Given the description of an element on the screen output the (x, y) to click on. 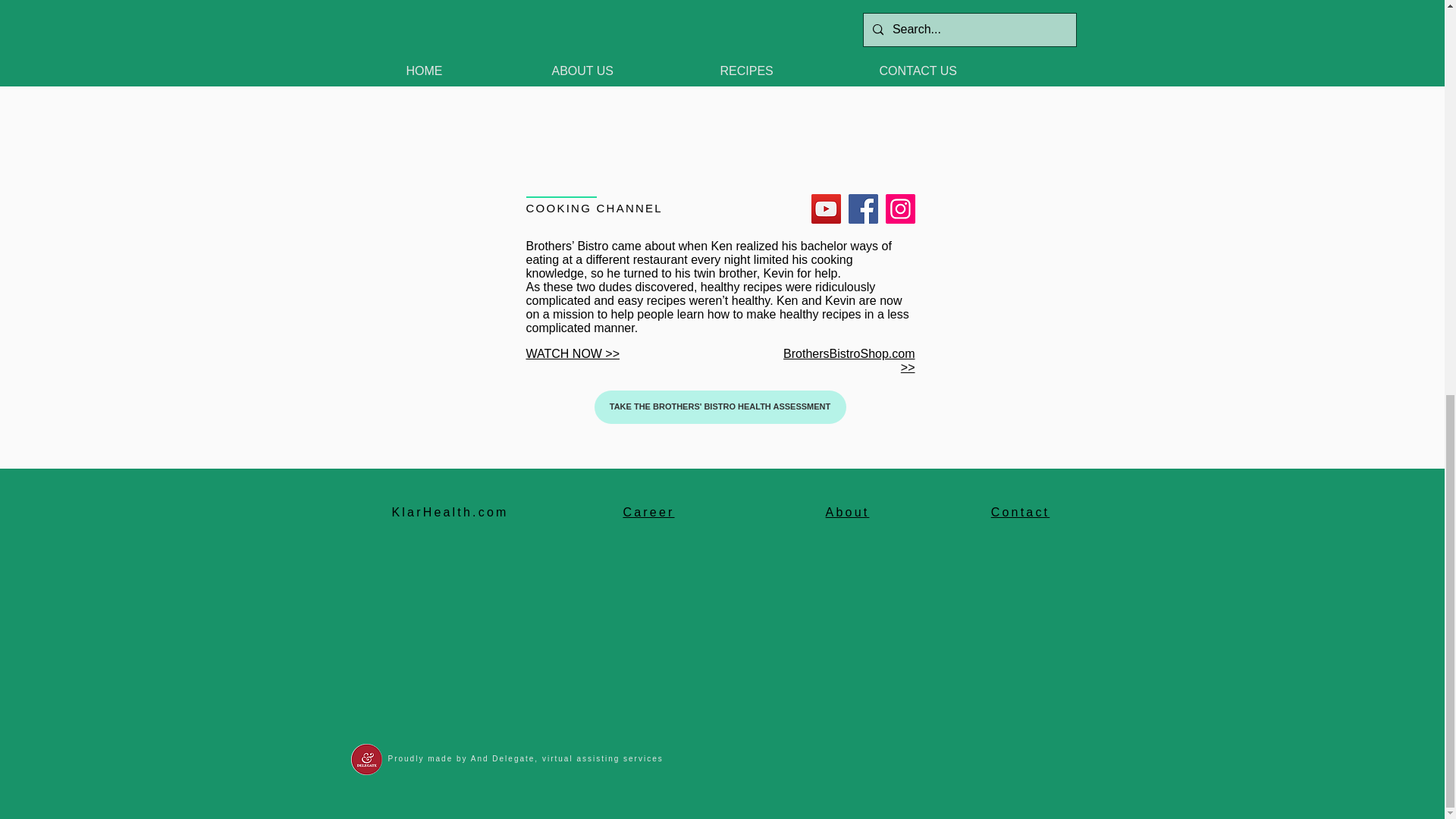
Contact (1020, 512)
TAKE THE BROTHERS' BISTRO HEALTH ASSESSMENT (719, 407)
About (847, 512)
Career (648, 512)
